Given the description of an element on the screen output the (x, y) to click on. 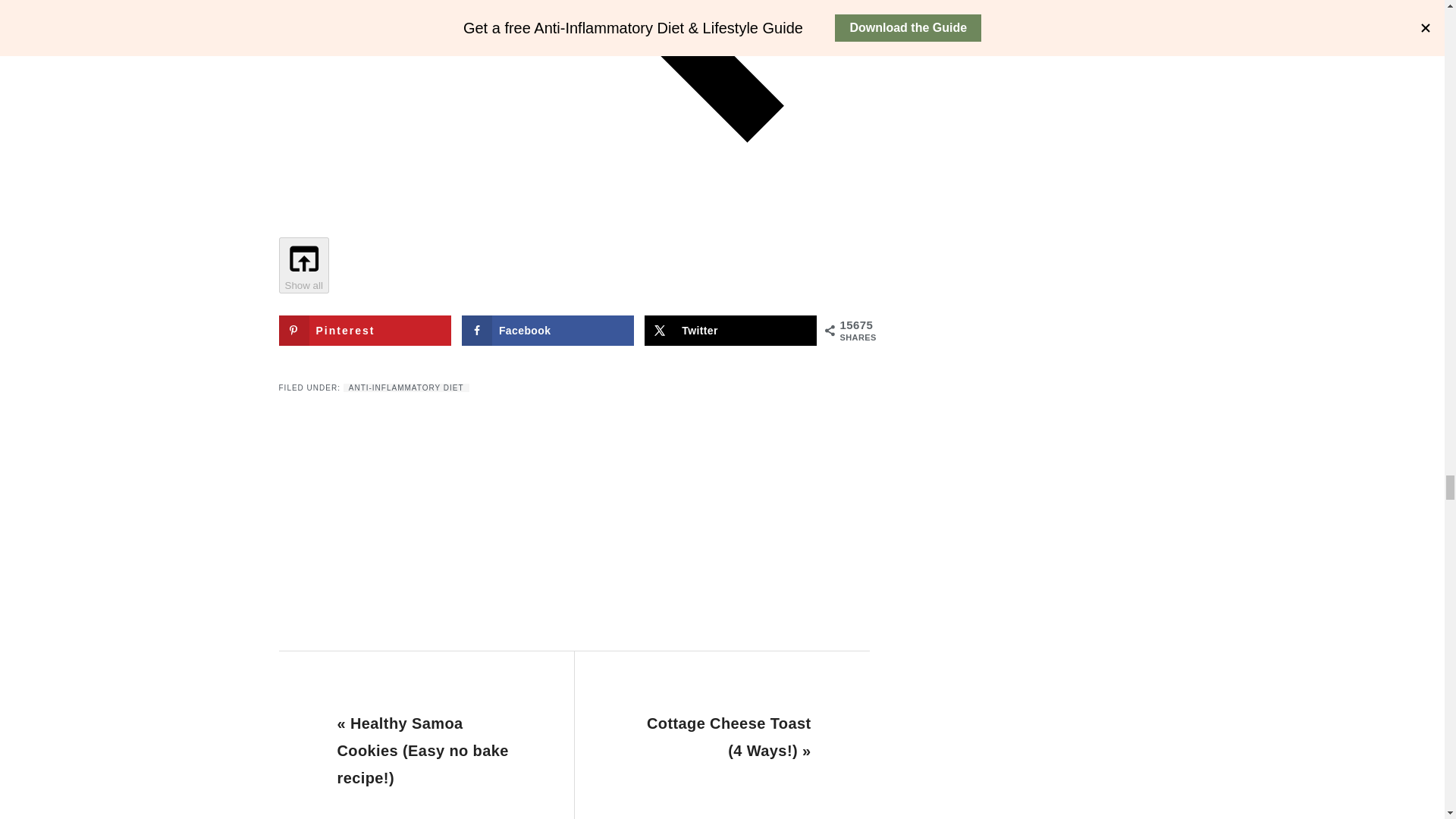
Save to Pinterest (365, 330)
Share on X (730, 330)
Share on Facebook (547, 330)
